Given the description of an element on the screen output the (x, y) to click on. 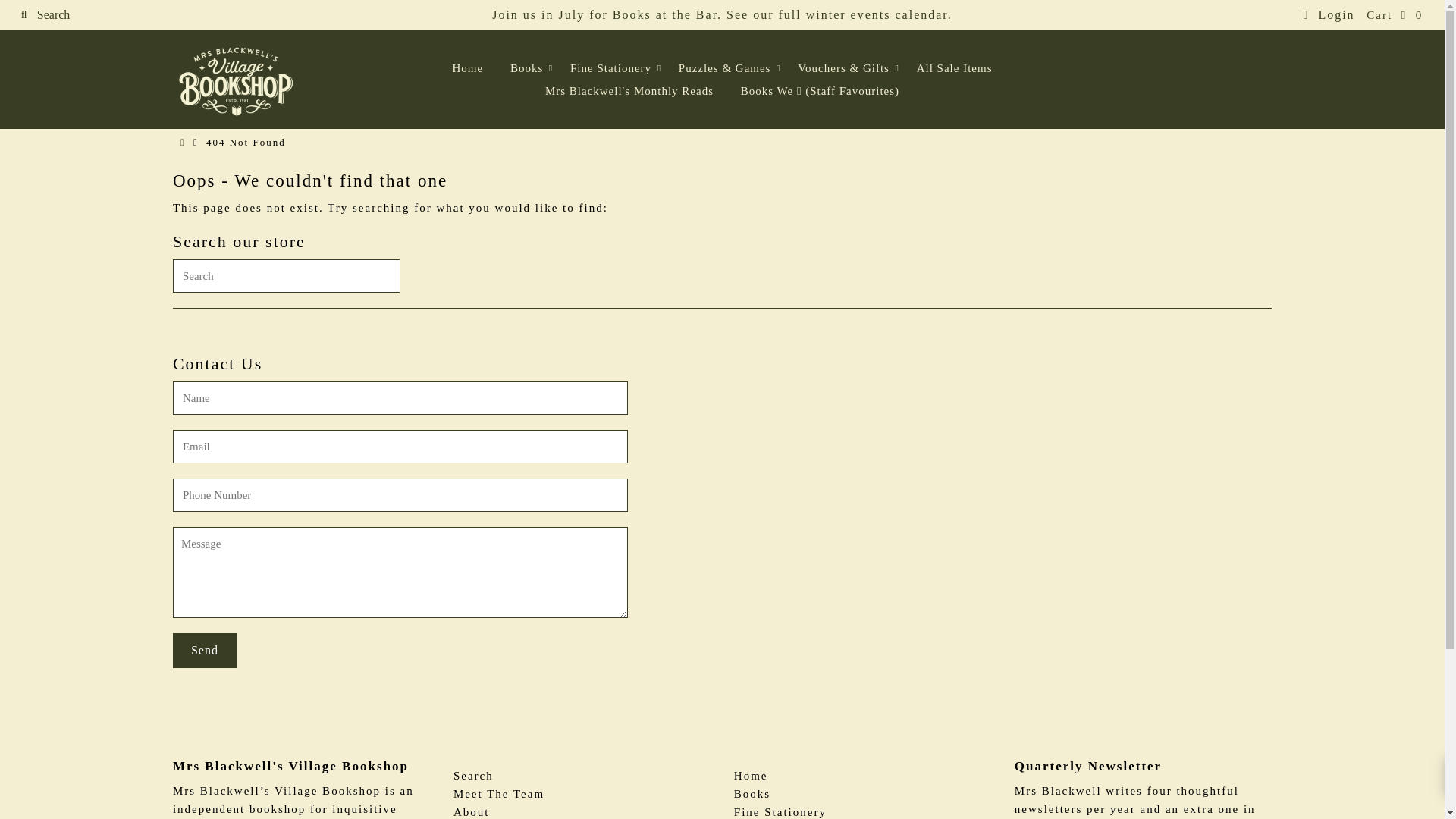
Books (526, 67)
Books at the Bar (664, 14)
Send (204, 650)
Home (468, 67)
Cart    0 (1394, 15)
  Login (1329, 14)
events calendar (898, 14)
